Given the description of an element on the screen output the (x, y) to click on. 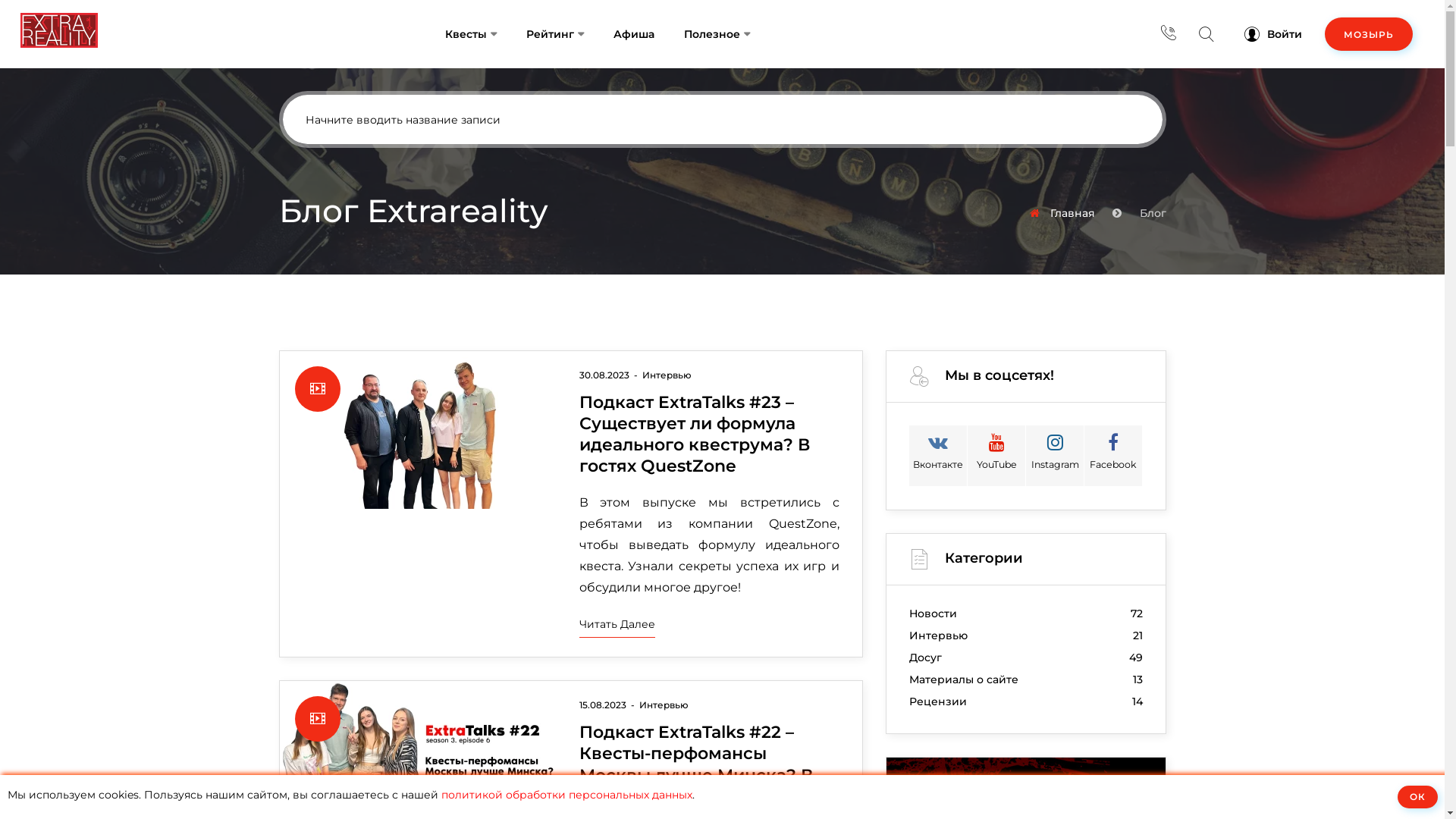
Instagram Element type: text (1054, 455)
YouTube Element type: text (996, 455)
Facebook Element type: text (1113, 455)
